Given the description of an element on the screen output the (x, y) to click on. 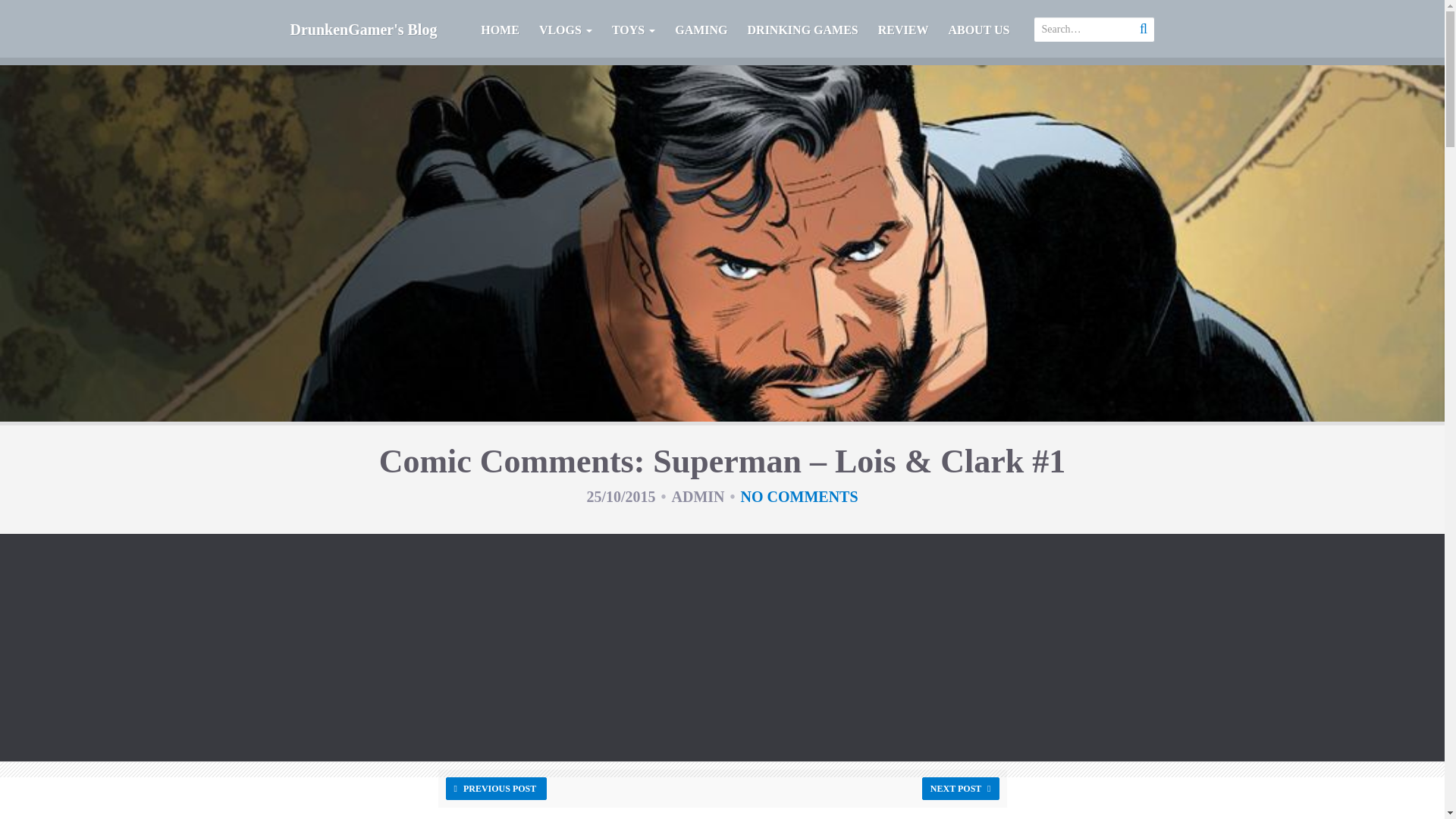
PREVIOUS POST (496, 788)
NO COMMENTS (800, 496)
DrunkenGamer's Blog (363, 28)
REVIEW (903, 32)
ABOUT US (978, 32)
NO COMMENTS (800, 496)
GAMING (700, 32)
Sunday, October 25th, 2015, 3:18 pm (620, 496)
DRINKING GAMES (802, 32)
NEXT POST (959, 788)
TOYS (633, 32)
HOME (499, 32)
VLOGS (565, 32)
